Given the description of an element on the screen output the (x, y) to click on. 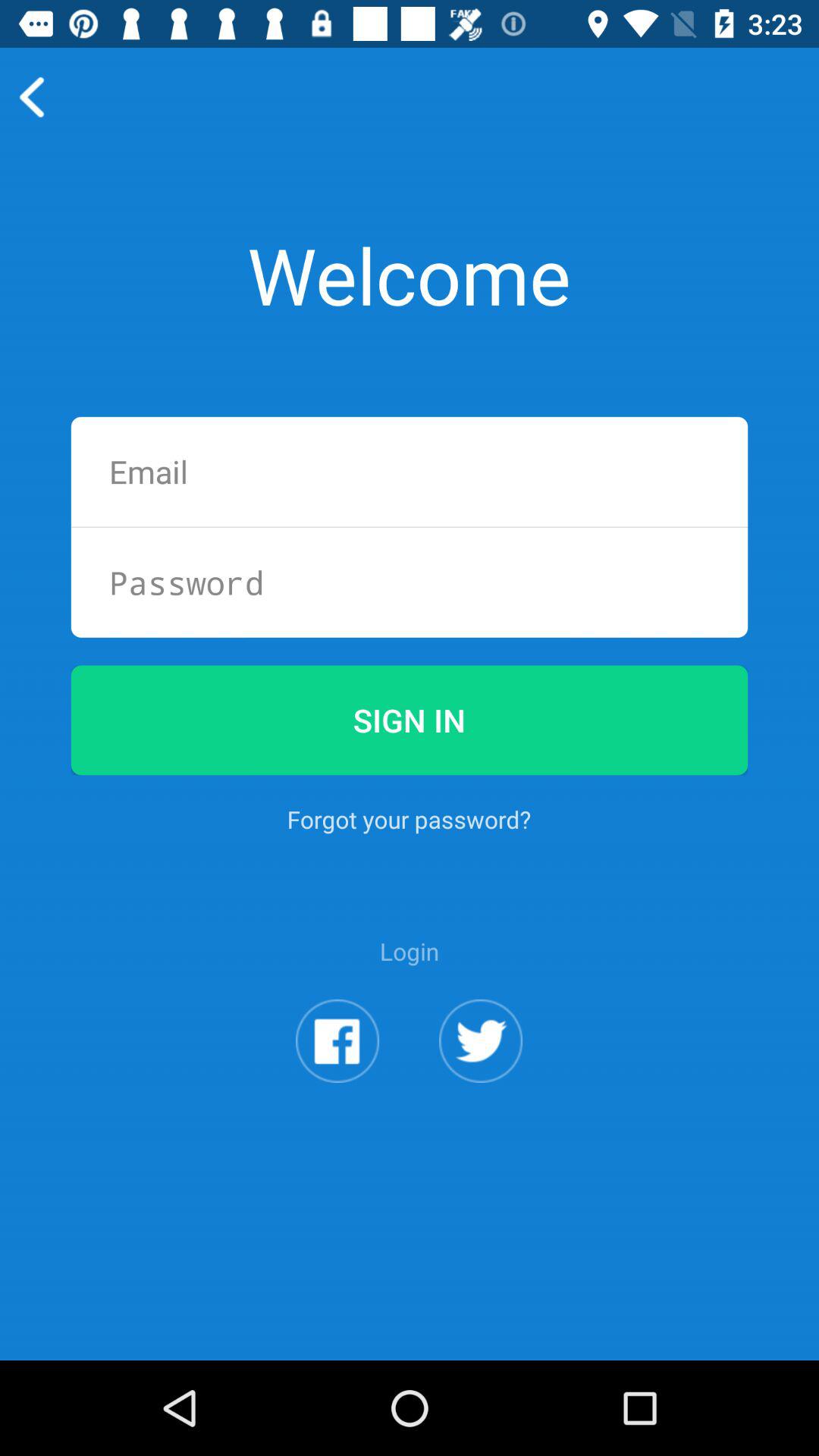
flip until the sign in item (409, 720)
